Given the description of an element on the screen output the (x, y) to click on. 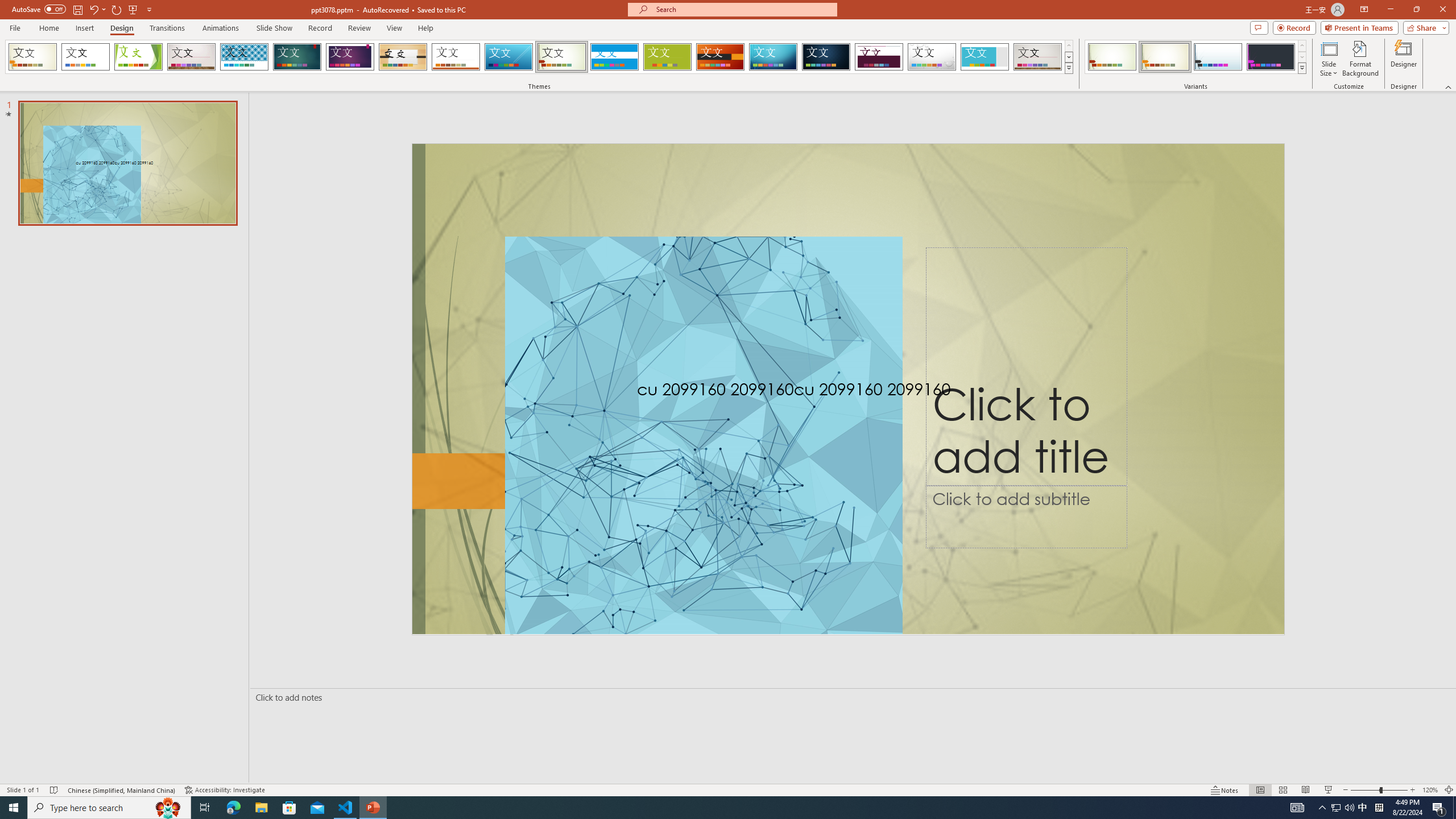
Retrospect Loading Preview... (455, 56)
Slice Loading Preview... (508, 56)
AutomationID: ThemeVariantsGallery (1195, 56)
Basis Loading Preview... (667, 56)
Dividend Loading Preview... (879, 56)
Circuit Loading Preview... (772, 56)
Format Background (1360, 58)
